Given the description of an element on the screen output the (x, y) to click on. 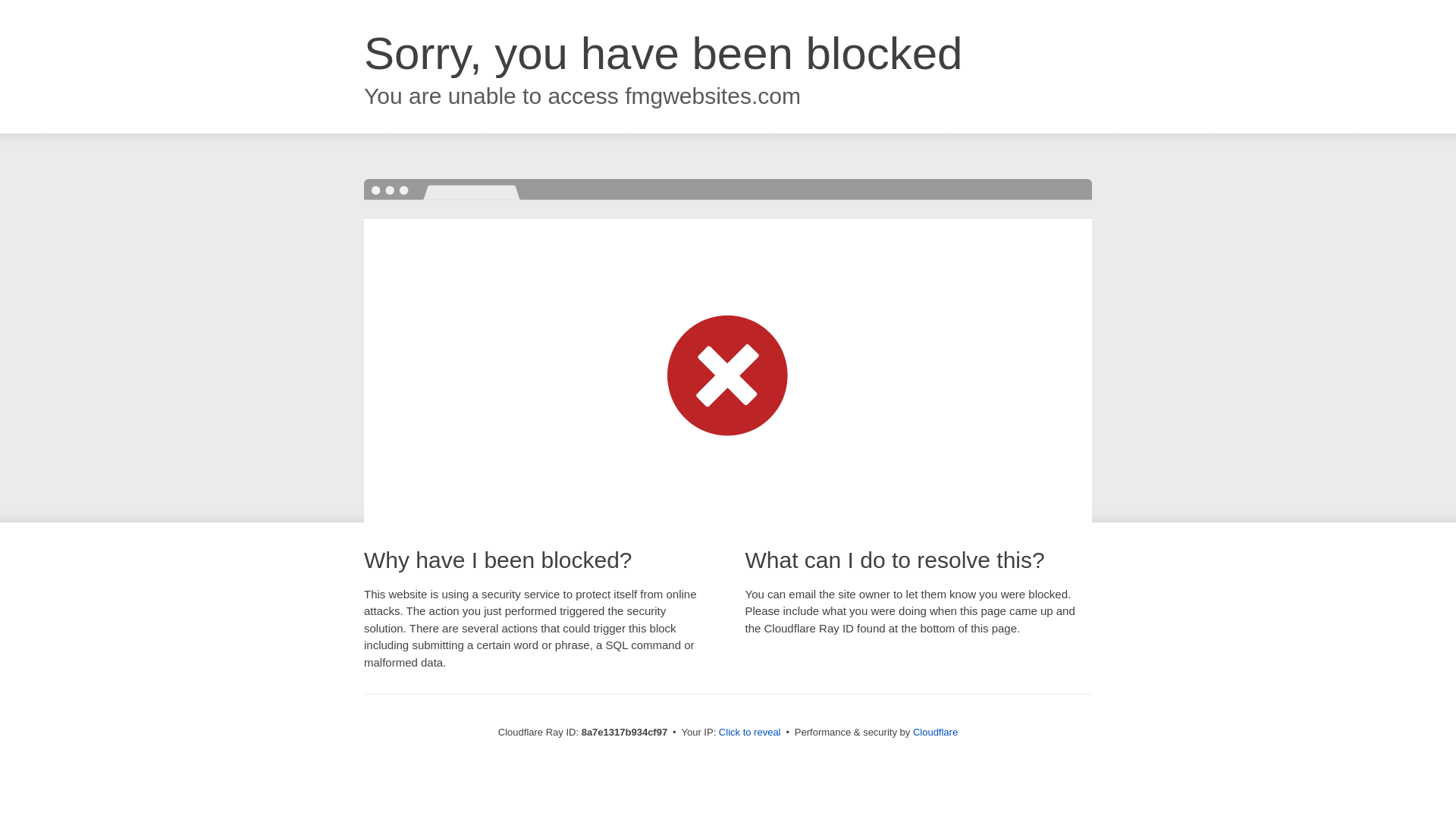
Cloudflare (935, 731)
Click to reveal (749, 732)
